Given the description of an element on the screen output the (x, y) to click on. 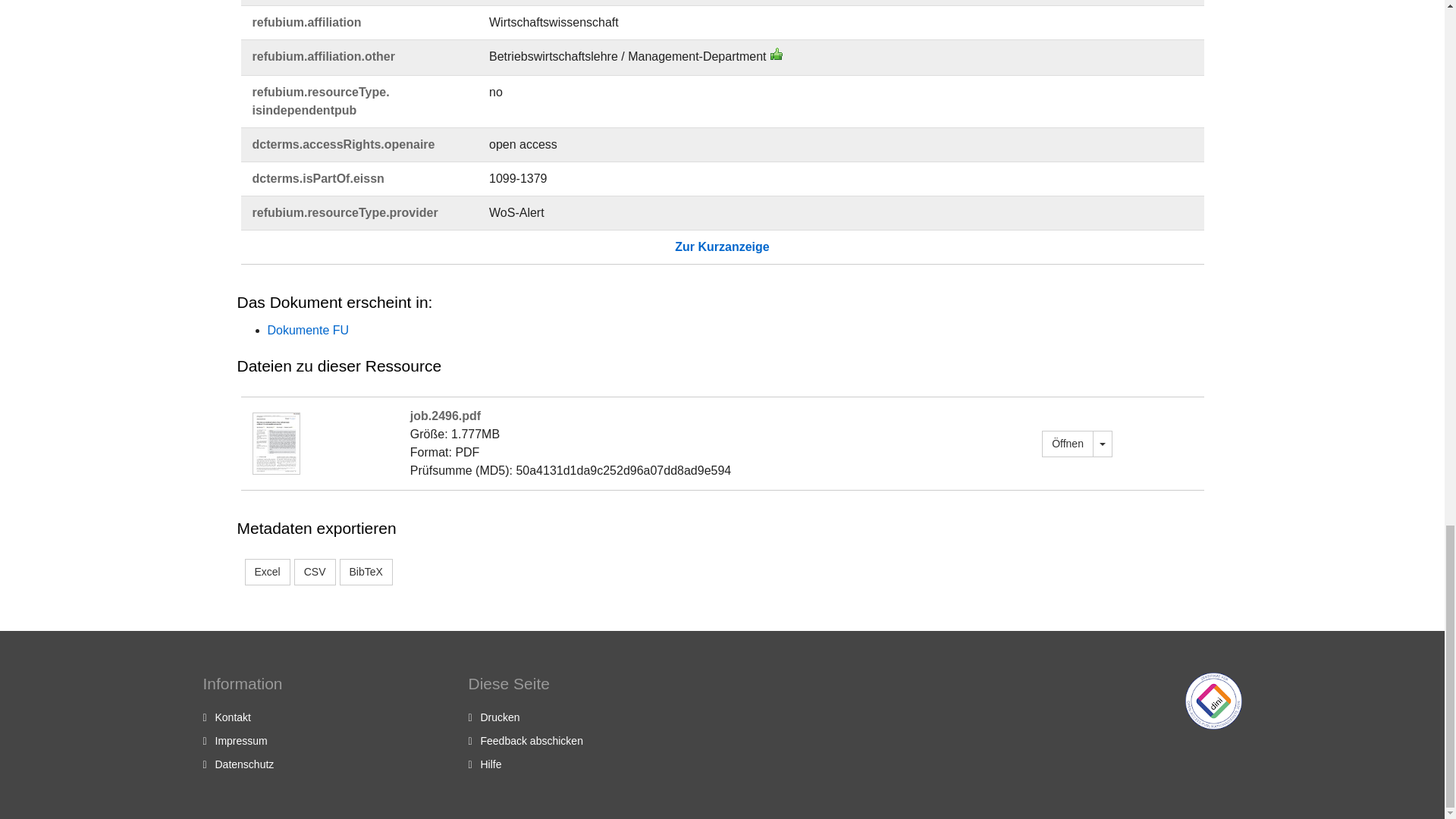
job.2496.pdf (275, 441)
Dokumente FU (307, 329)
job.2496.pdf (1067, 442)
Zur Kurzanzeige (721, 246)
